Given the description of an element on the screen output the (x, y) to click on. 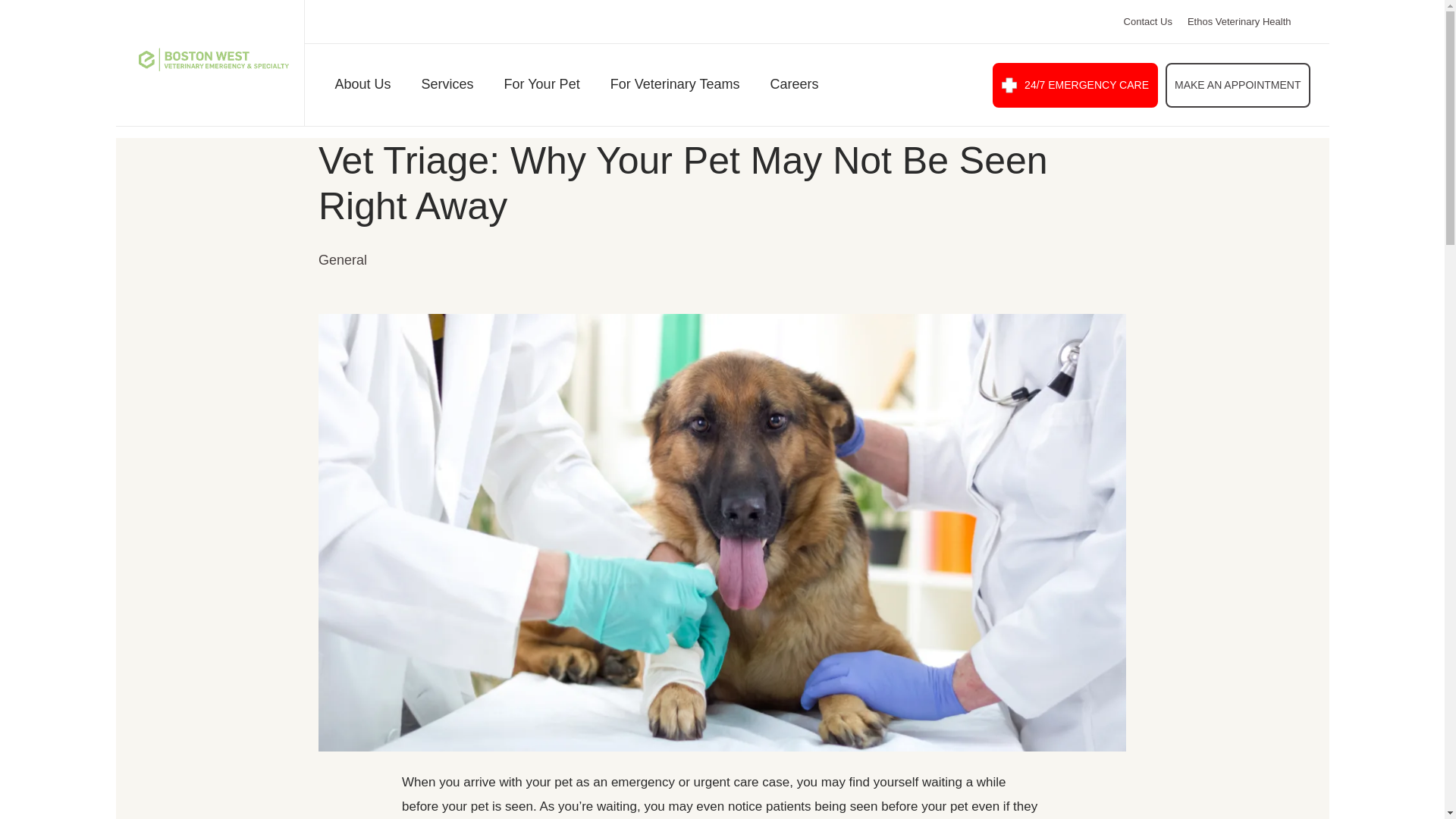
Ethos Veterinary Health (1239, 21)
For Veterinary Teams (674, 87)
Services (448, 87)
About Us (362, 87)
Services (448, 87)
For Your Pet (541, 87)
About Us (362, 87)
Careers (794, 87)
MAKE AN APPOINTMENT (1237, 84)
 Contact Us (1148, 21)
Contact Us (1148, 21)
Ethos Veterinary Health (1239, 21)
Logo (213, 59)
